Given the description of an element on the screen output the (x, y) to click on. 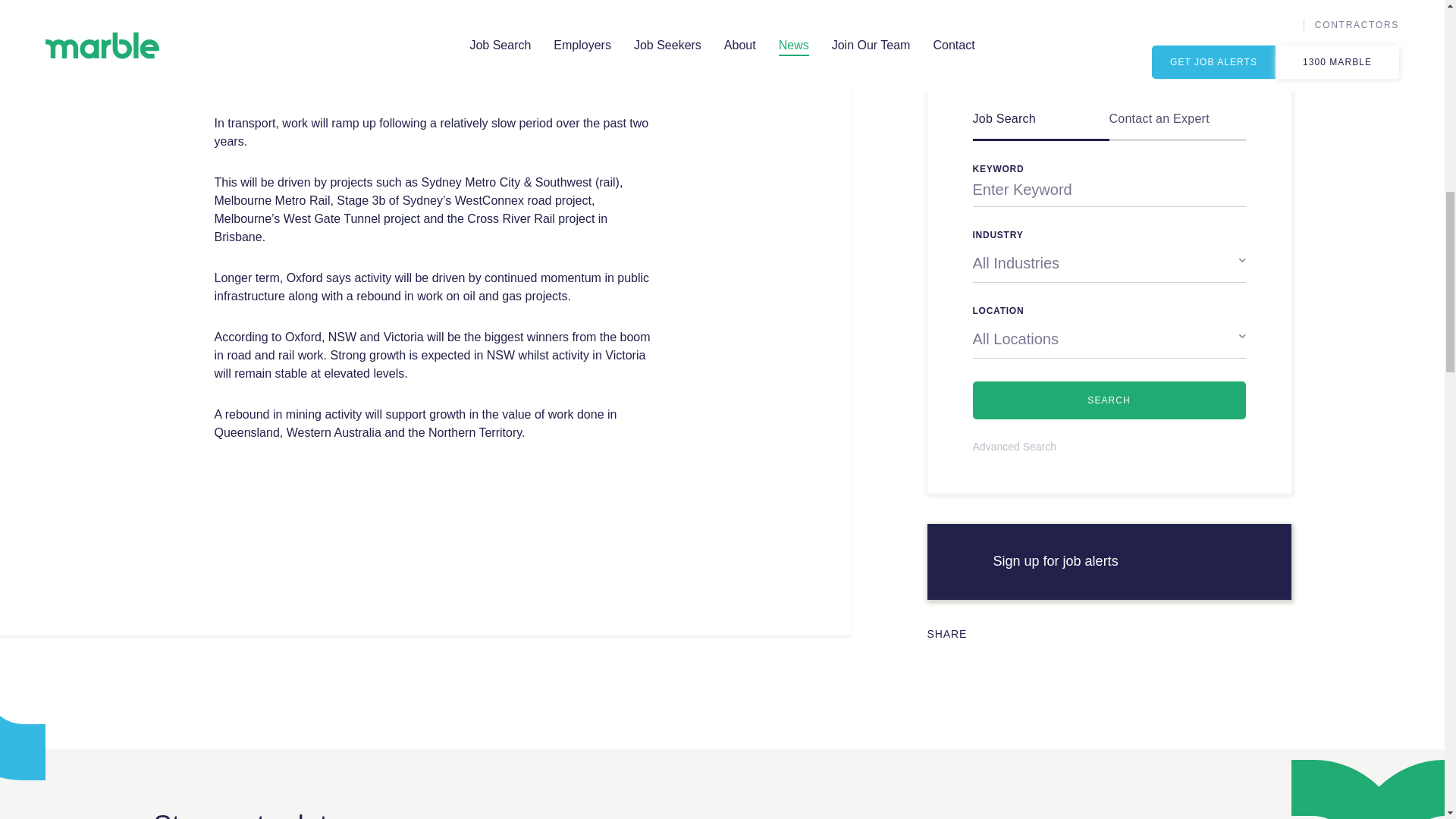
Contact an Expert (1177, 121)
Job Search (1040, 121)
SEARCH (1109, 400)
Advanced Search (1014, 446)
Sign up for job alerts (1109, 561)
